Given the description of an element on the screen output the (x, y) to click on. 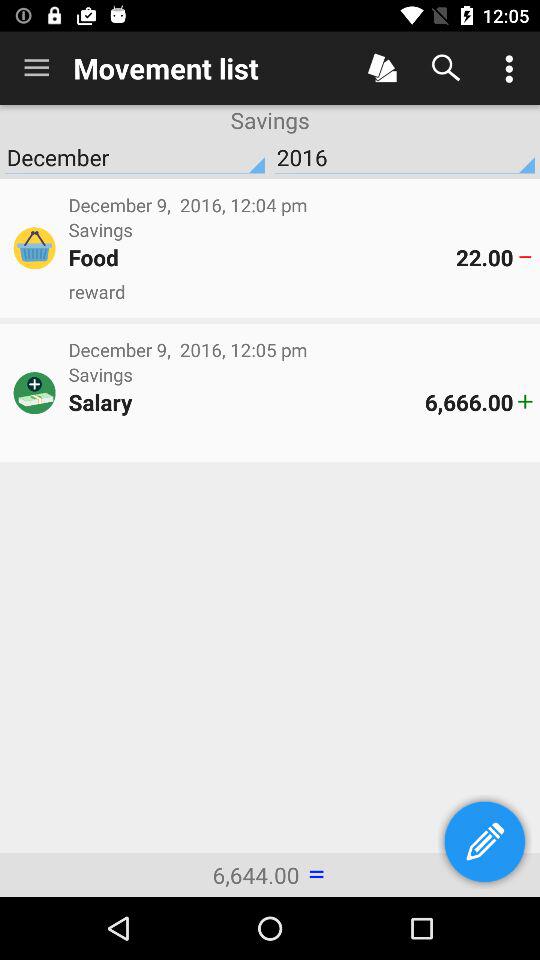
choose icon above reward icon (262, 257)
